Given the description of an element on the screen output the (x, y) to click on. 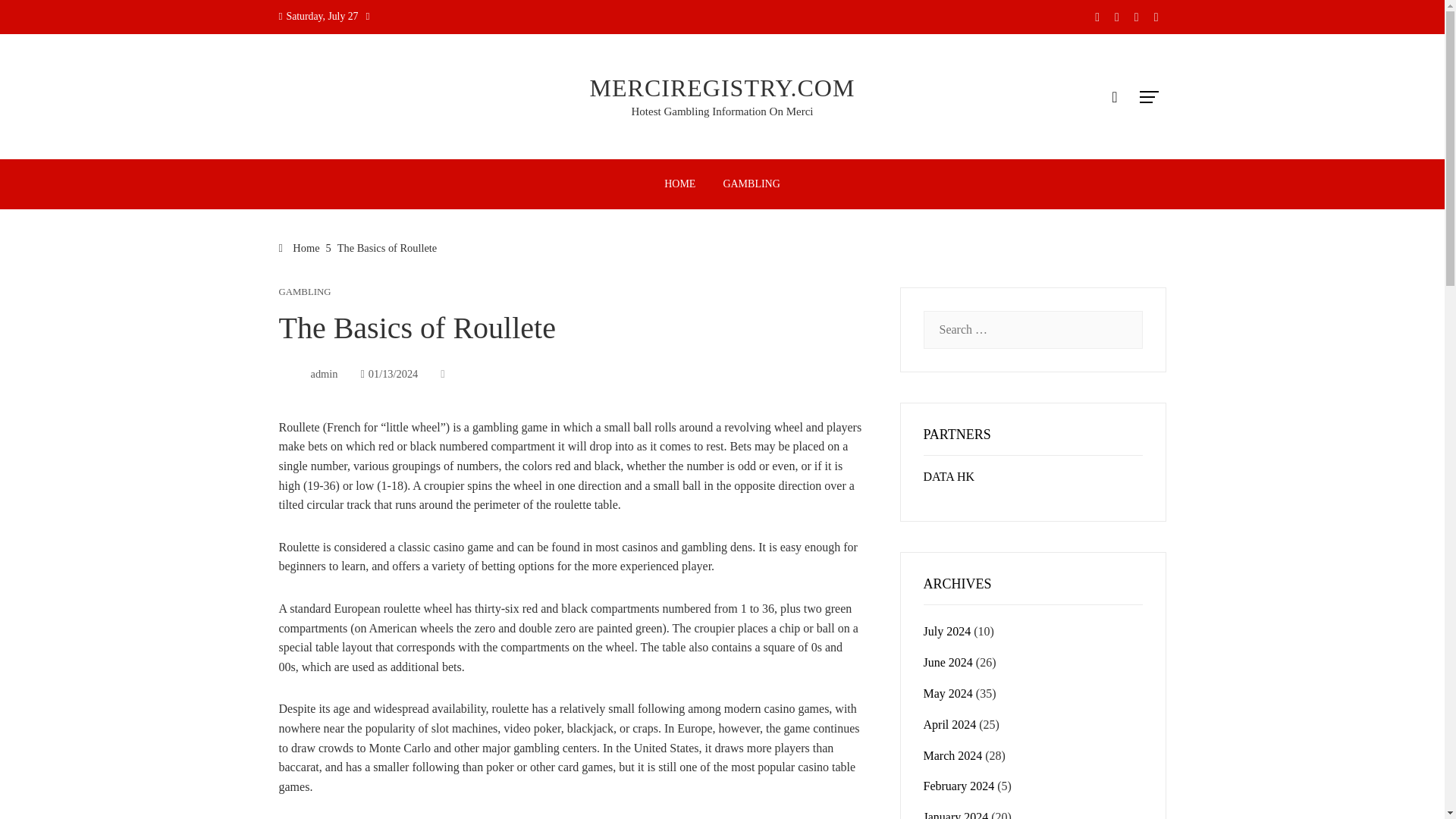
February 2024 (958, 785)
July 2024 (947, 631)
HOME (679, 183)
GAMBLING (750, 183)
March 2024 (952, 755)
Hotest Gambling Information On Merci (722, 111)
DATA HK (949, 476)
May 2024 (947, 693)
Search (35, 18)
MERCIREGISTRY.COM (722, 87)
January 2024 (955, 814)
April 2024 (949, 724)
GAMBLING (305, 292)
June 2024 (947, 662)
Home (299, 247)
